Given the description of an element on the screen output the (x, y) to click on. 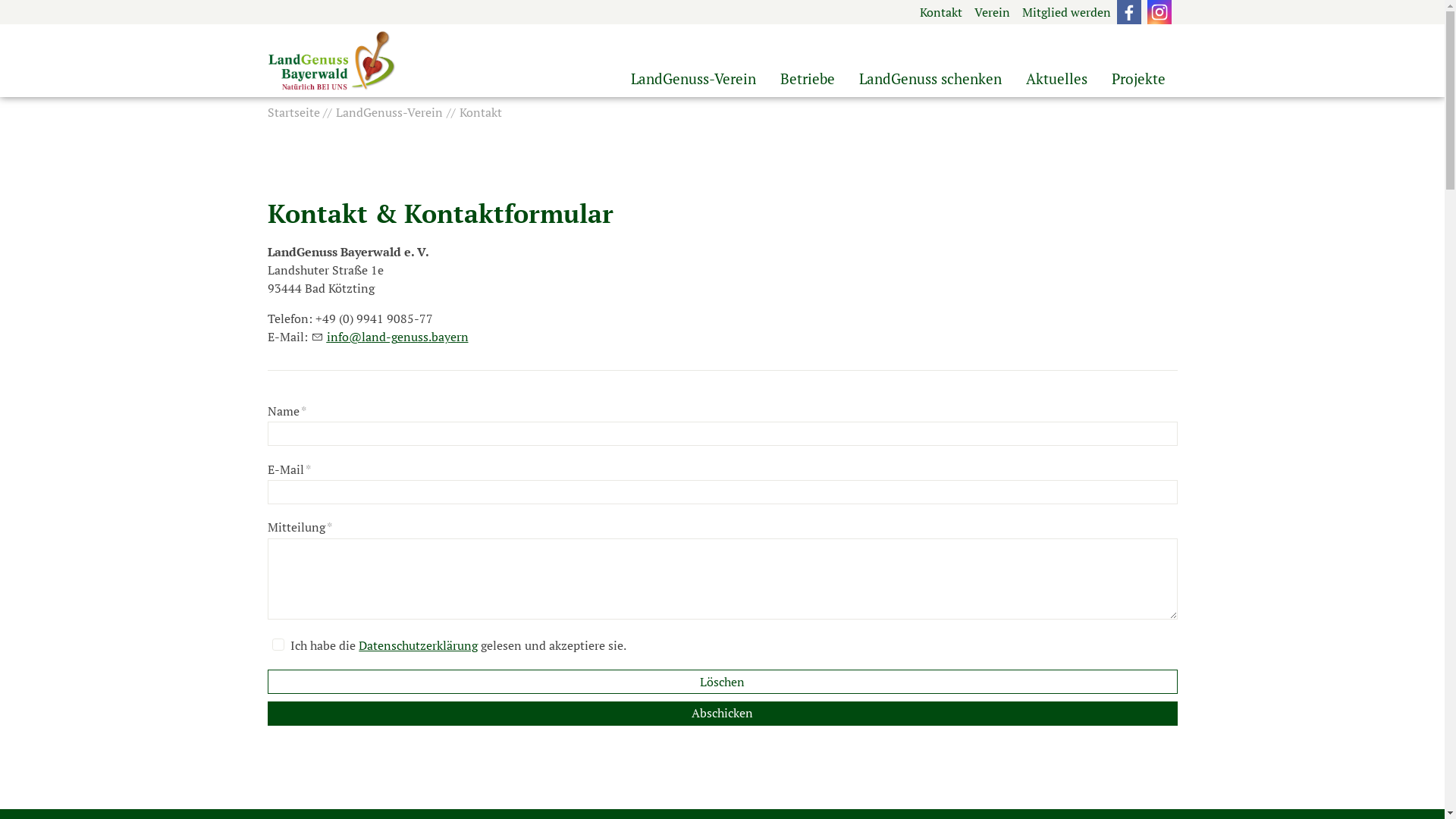
Startseite Element type: text (294, 111)
Projekte Element type: text (1138, 78)
  Element type: text (1128, 12)
Kontakt Element type: text (475, 111)
Betriebe Element type: text (806, 78)
Mitglied werden Element type: text (1066, 11)
Abschicken Element type: text (721, 713)
Zur Startseite Element type: hover (330, 60)
Aktuelles Element type: text (1055, 78)
nflnd-gnssbyrn Element type: text (389, 336)
LandGenuss-Verein Element type: text (693, 78)
Verein Element type: text (991, 11)
LandGenuss-Verein Element type: text (384, 111)
LandGenuss schenken Element type: text (929, 78)
Kontakt Element type: text (940, 11)
  Element type: text (1158, 12)
